Given the description of an element on the screen output the (x, y) to click on. 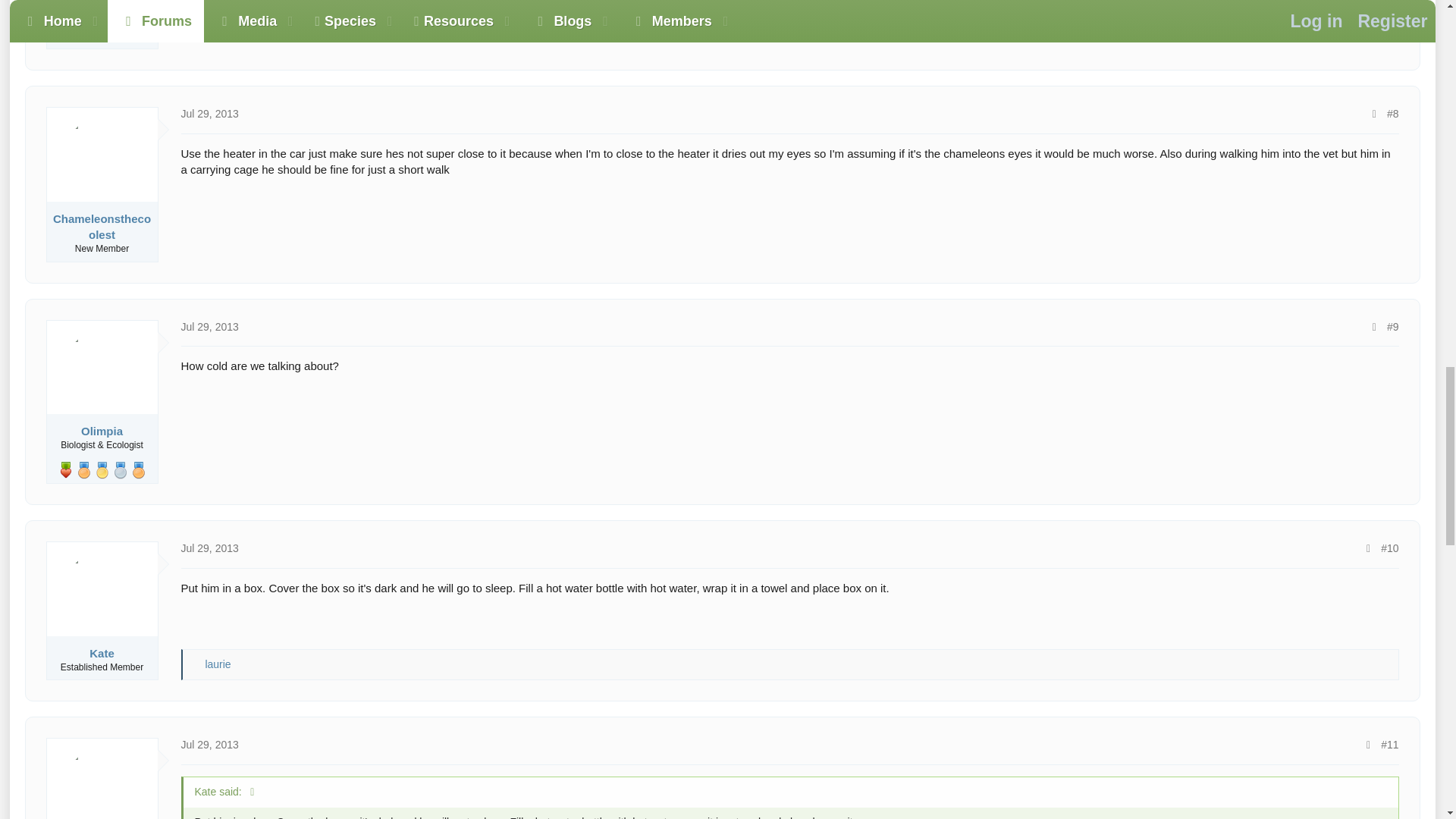
Like (195, 664)
Jul 29, 2013 at 12:39 PM (209, 326)
Jul 29, 2013 at 1:03 PM (209, 744)
Jul 29, 2013 at 12:34 PM (209, 113)
Jul 29, 2013 at 12:57 PM (209, 548)
